Given the description of an element on the screen output the (x, y) to click on. 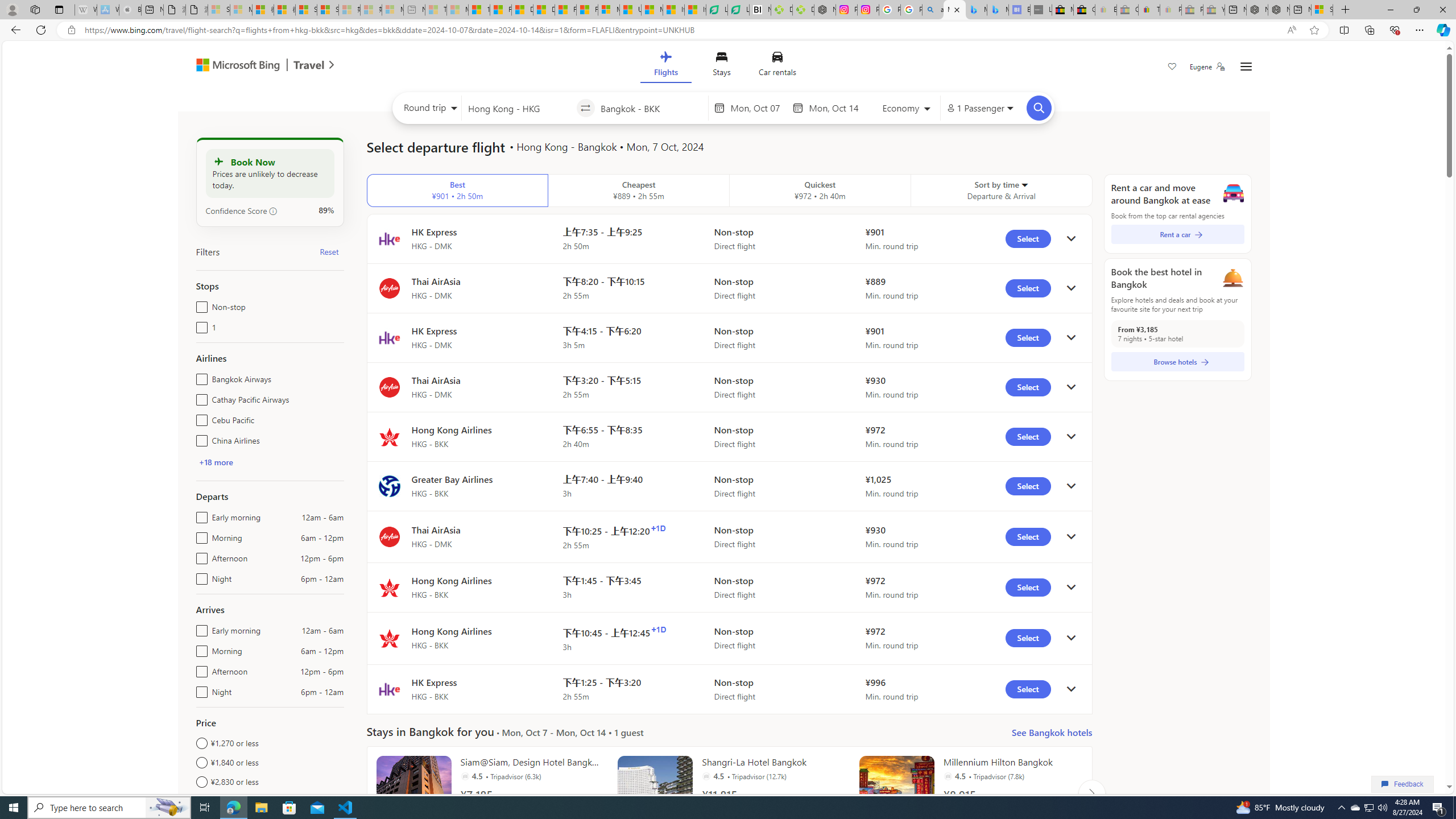
Cathay Pacific Airways (199, 397)
Top Stories - MSN - Sleeping (435, 9)
Bangkok Airways (199, 376)
Flight logo (389, 689)
Yard, Garden & Outdoor Living - Sleeping (1214, 9)
Rent a car (1177, 234)
Class: msft-travel-logo (308, 64)
Cebu Pacific (199, 417)
